Given the description of an element on the screen output the (x, y) to click on. 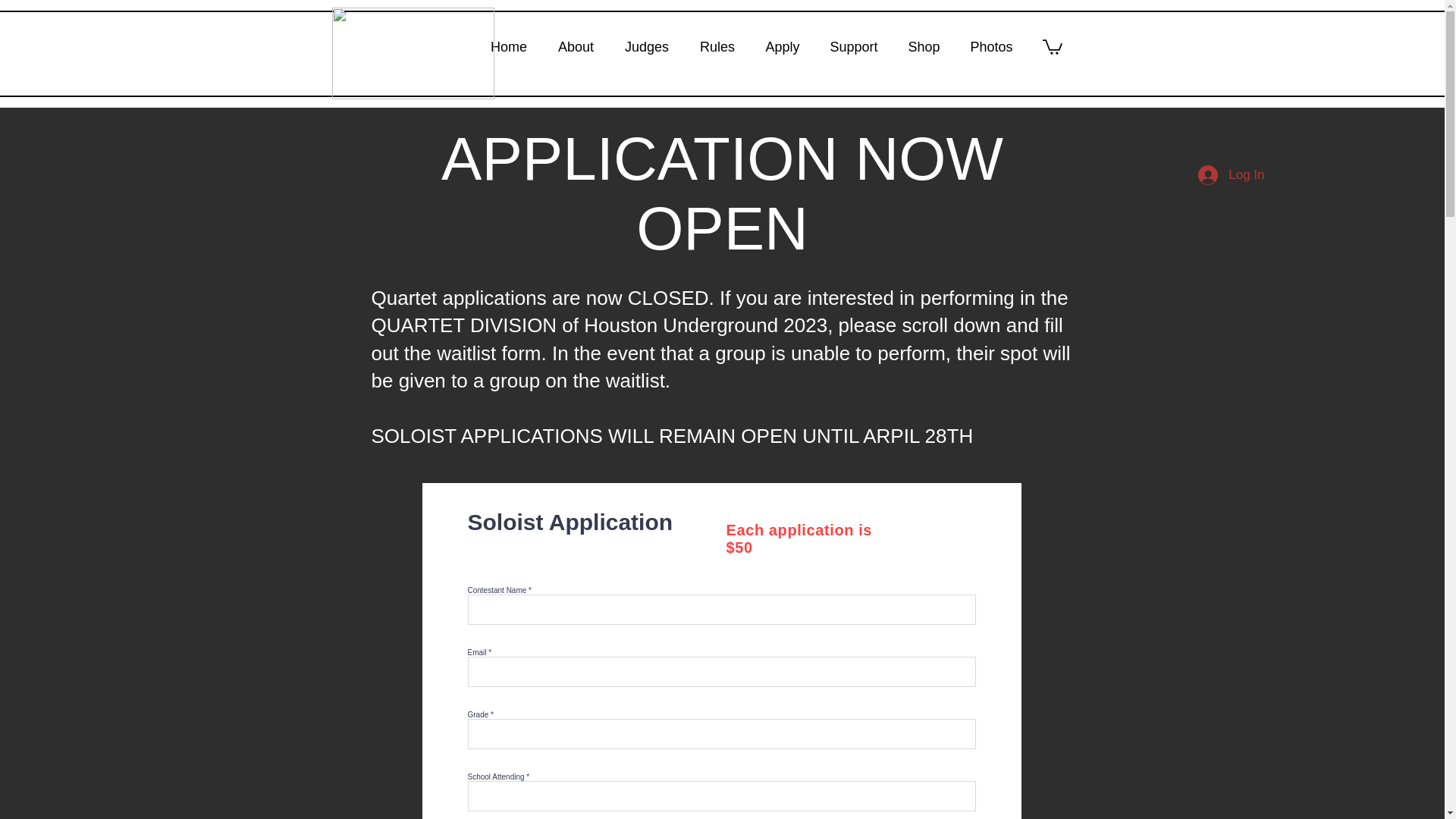
Shop (924, 46)
About (576, 46)
Apply (783, 46)
Rules (716, 46)
Photos (991, 46)
Home (507, 46)
HUSCBusinesscard.png (413, 53)
Log In (1231, 174)
Judges (647, 46)
Support (852, 46)
